Given the description of an element on the screen output the (x, y) to click on. 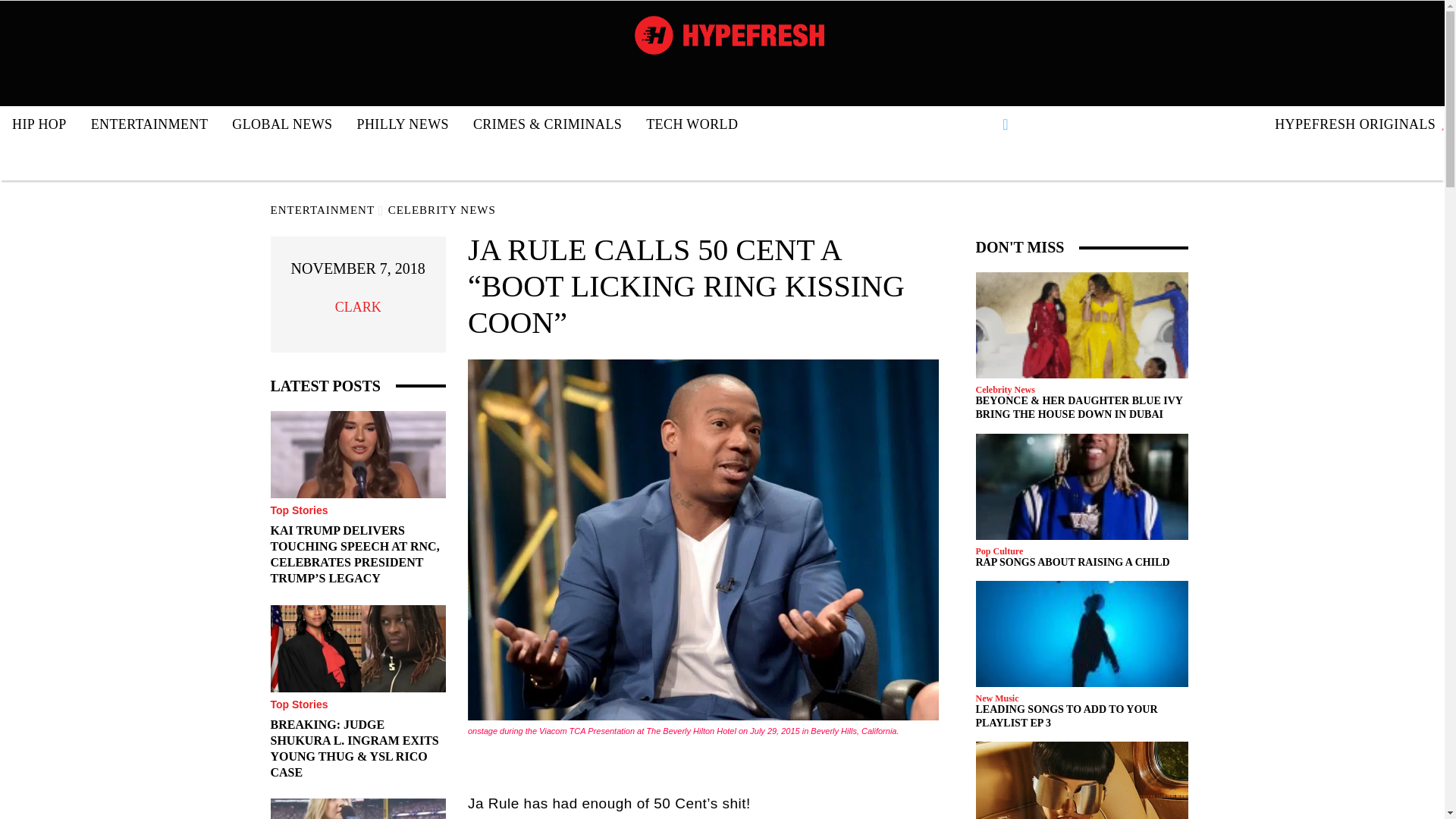
HIP HOP (39, 124)
